Given the description of an element on the screen output the (x, y) to click on. 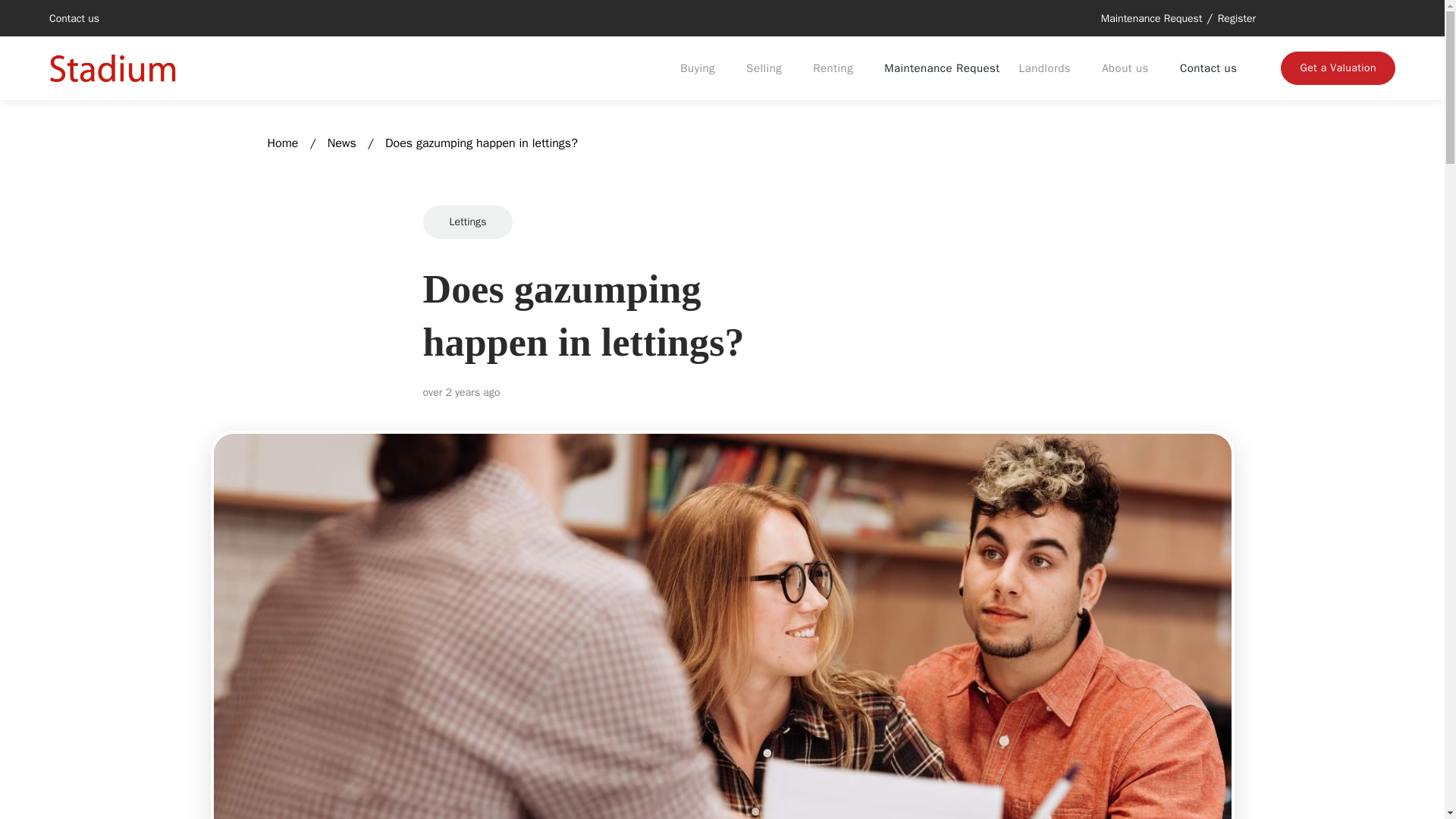
Contact us (74, 18)
Landlords (1050, 68)
Buying (702, 68)
Maintenance Request (940, 68)
Renting (837, 68)
Register (1236, 18)
Selling (768, 68)
Maintenance Request (1151, 18)
Contact us (1207, 68)
About us (1130, 68)
Get a Valuation (1337, 68)
